Given the description of an element on the screen output the (x, y) to click on. 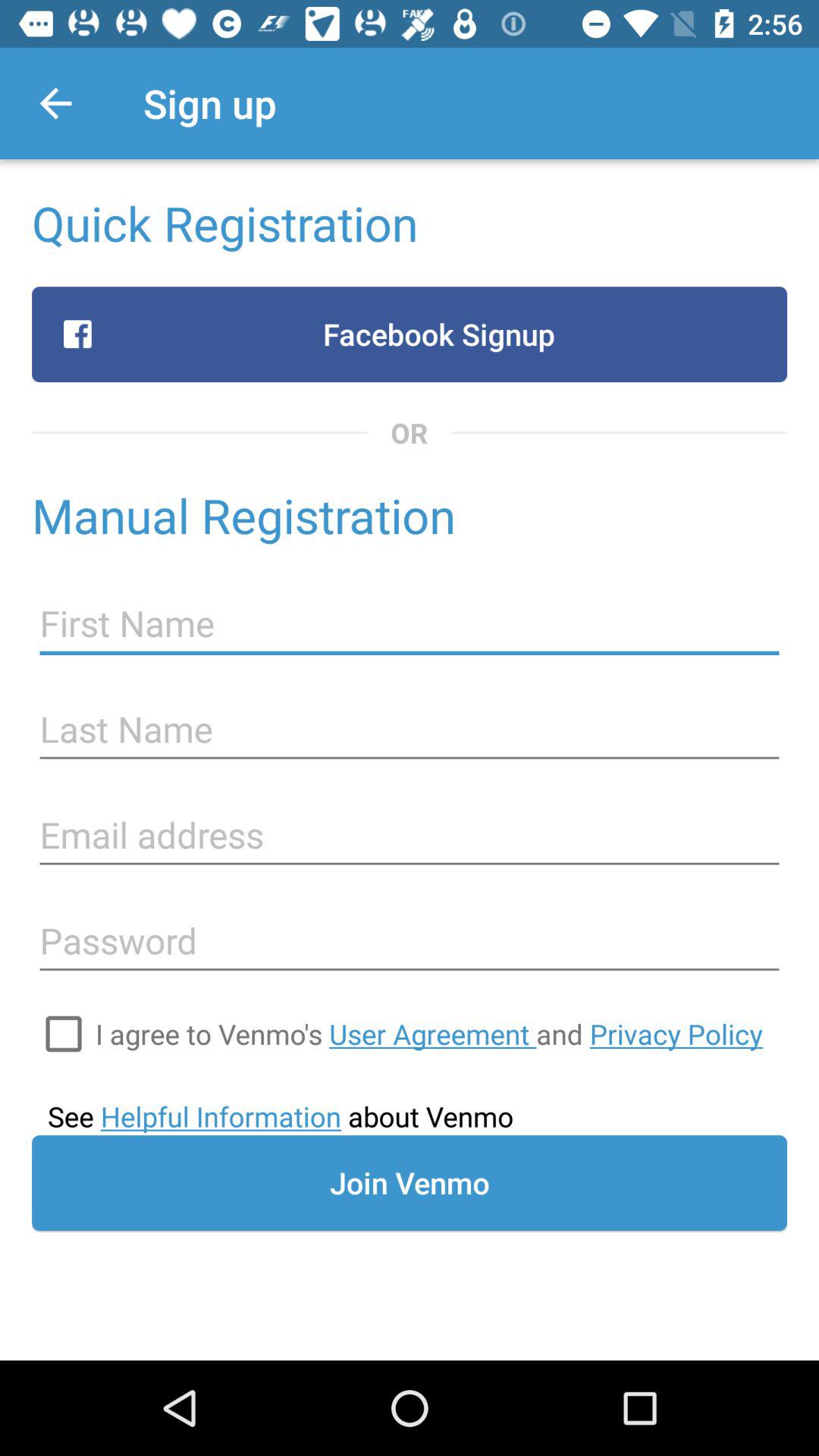
open icon above or (409, 334)
